Given the description of an element on the screen output the (x, y) to click on. 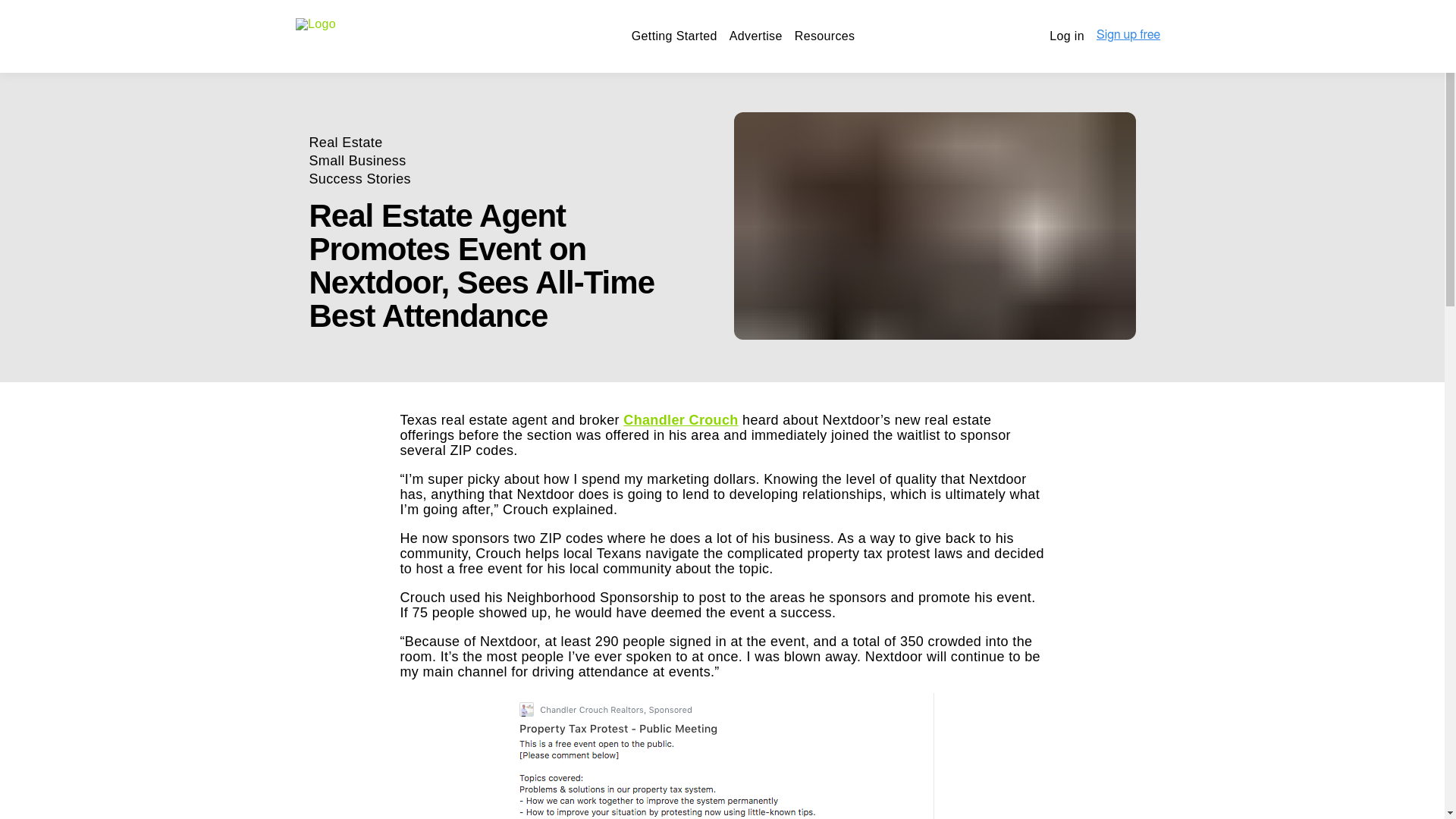
Getting Started (674, 35)
Chandler Crouch (680, 419)
Resources (825, 35)
Advertise (756, 35)
Log in (1066, 35)
